Given the description of an element on the screen output the (x, y) to click on. 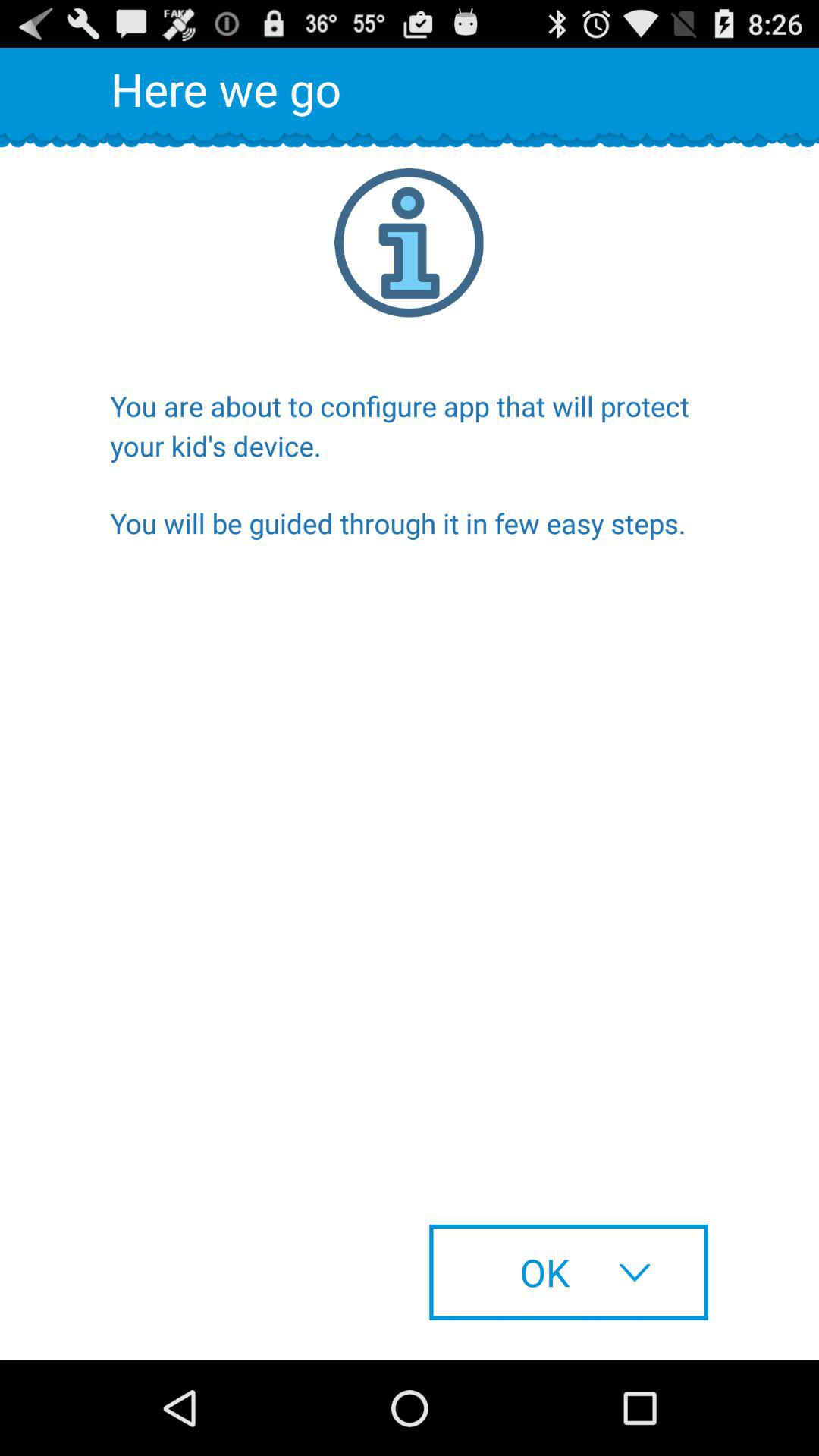
choose the ok at the bottom right corner (568, 1272)
